Given the description of an element on the screen output the (x, y) to click on. 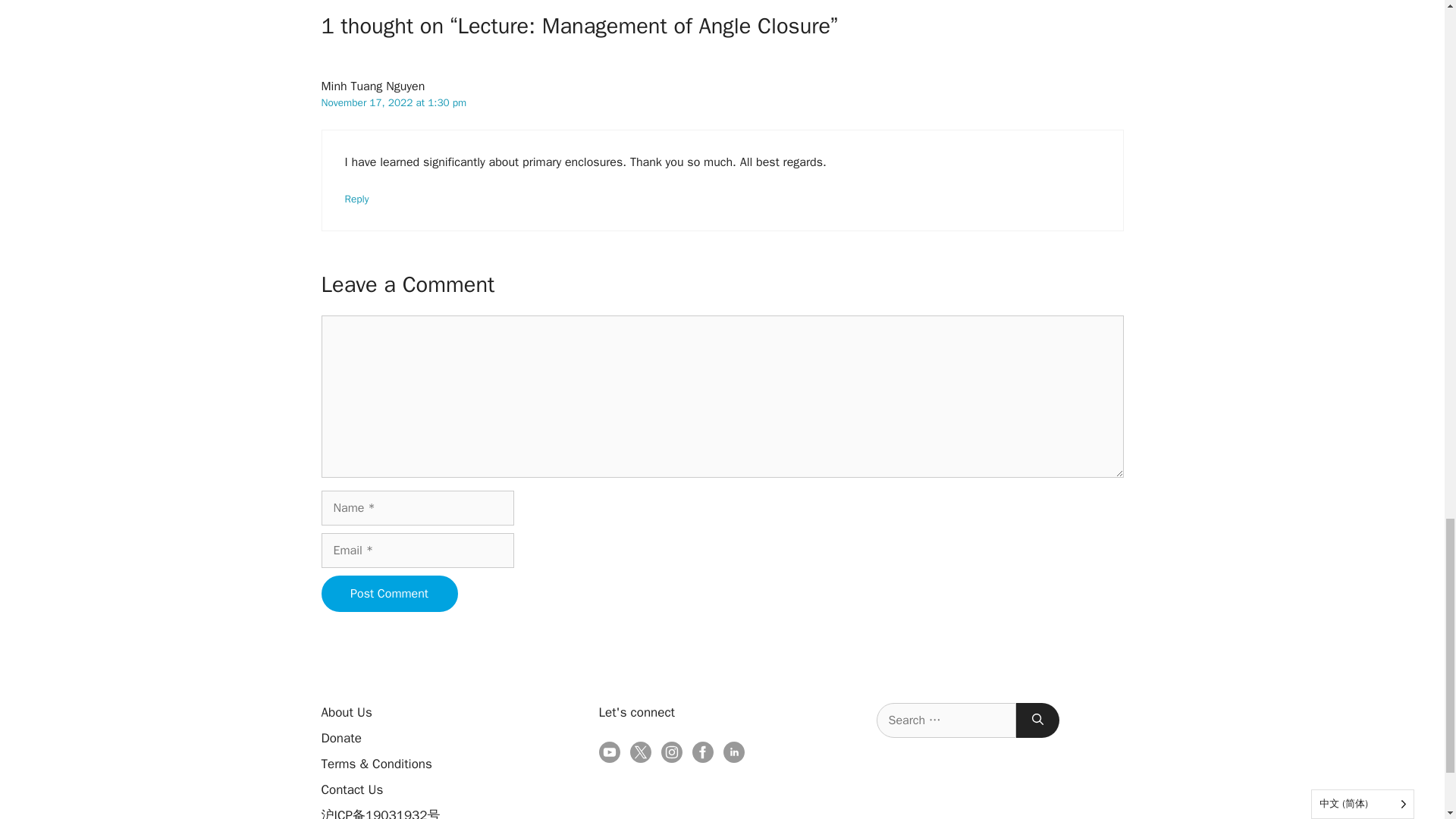
About Us (346, 712)
Search for: (946, 719)
Post Comment (389, 593)
Contact Us (352, 789)
Post Comment (389, 593)
Donate (341, 738)
November 17, 2022 at 1:30 pm (394, 102)
Reply (355, 198)
